Given the description of an element on the screen output the (x, y) to click on. 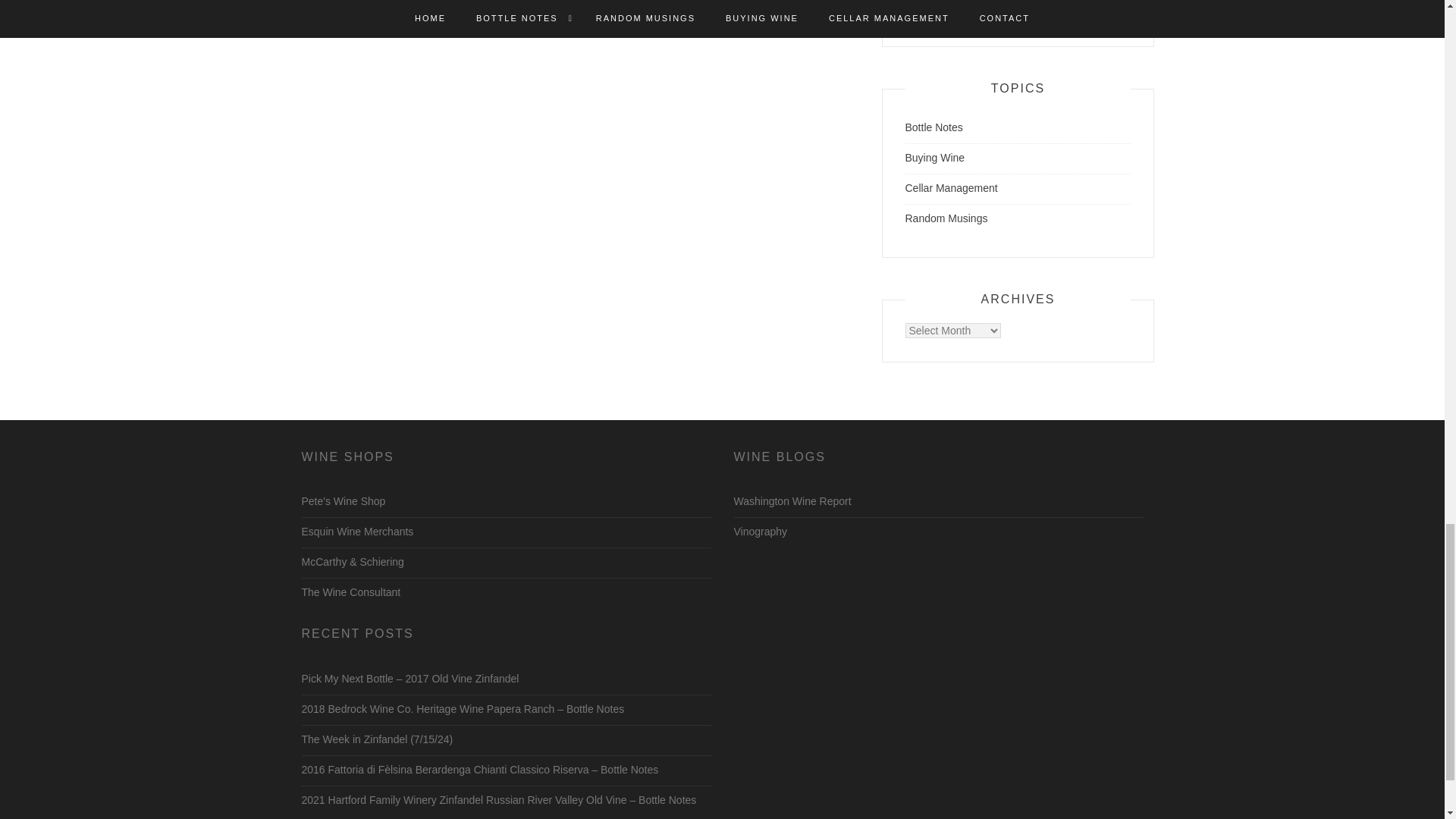
The Wine Consultant (351, 592)
Esquin (357, 531)
